Given the description of an element on the screen output the (x, y) to click on. 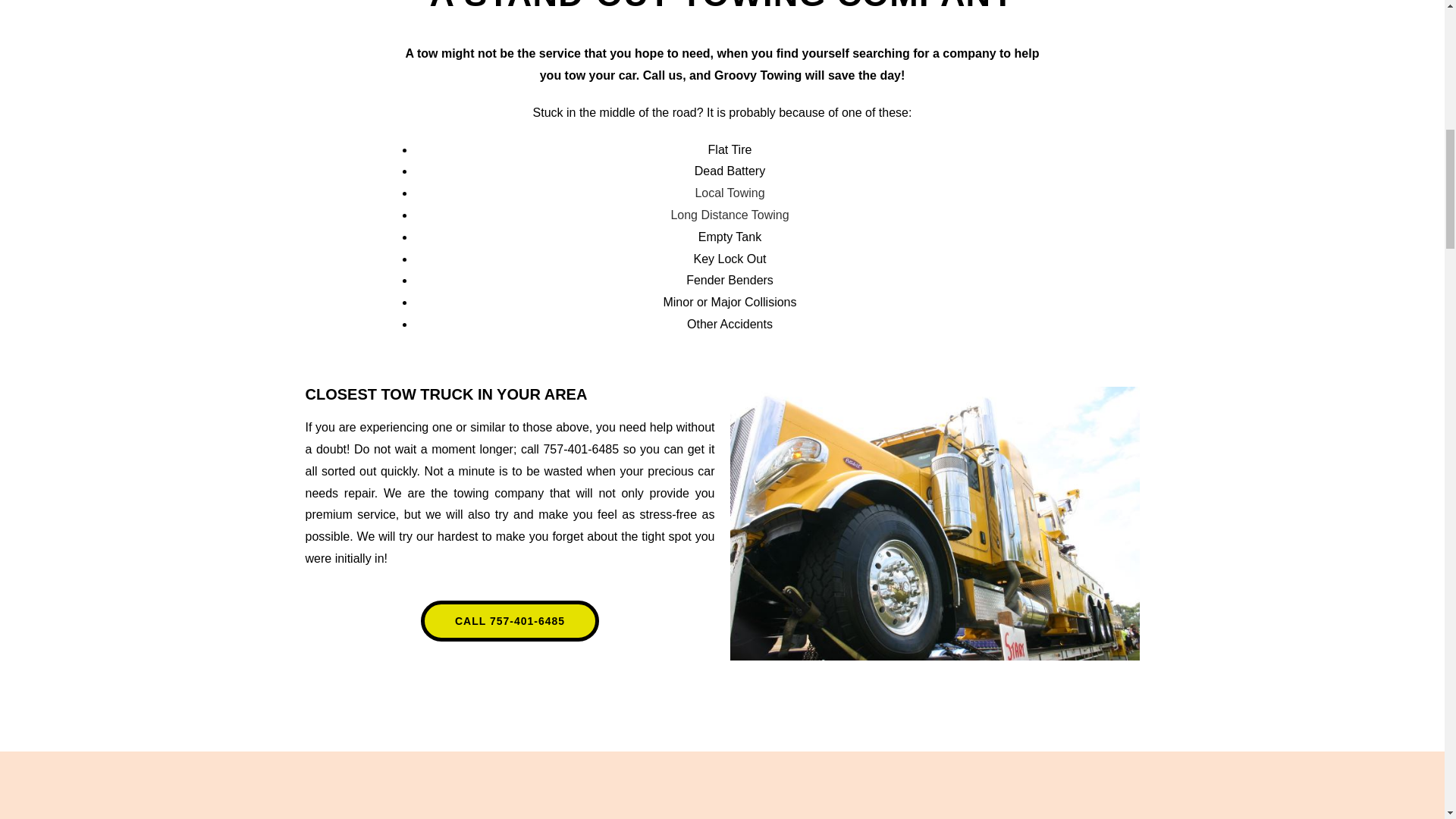
Local Towing (729, 192)
CALL 757-401-6485 (509, 620)
Long Distance Towing (729, 214)
